Given the description of an element on the screen output the (x, y) to click on. 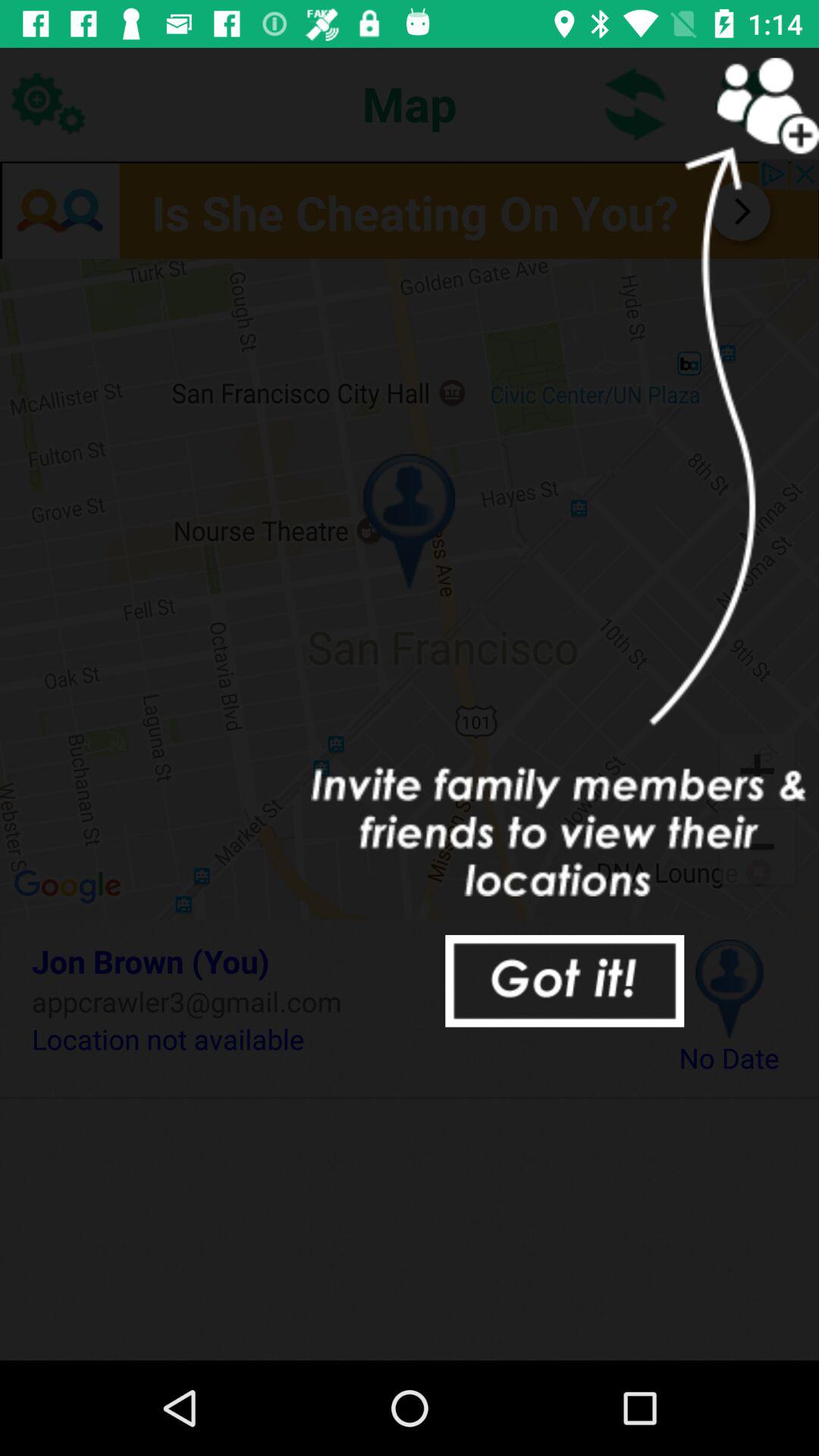
invite family friends (751, 103)
